Given the description of an element on the screen output the (x, y) to click on. 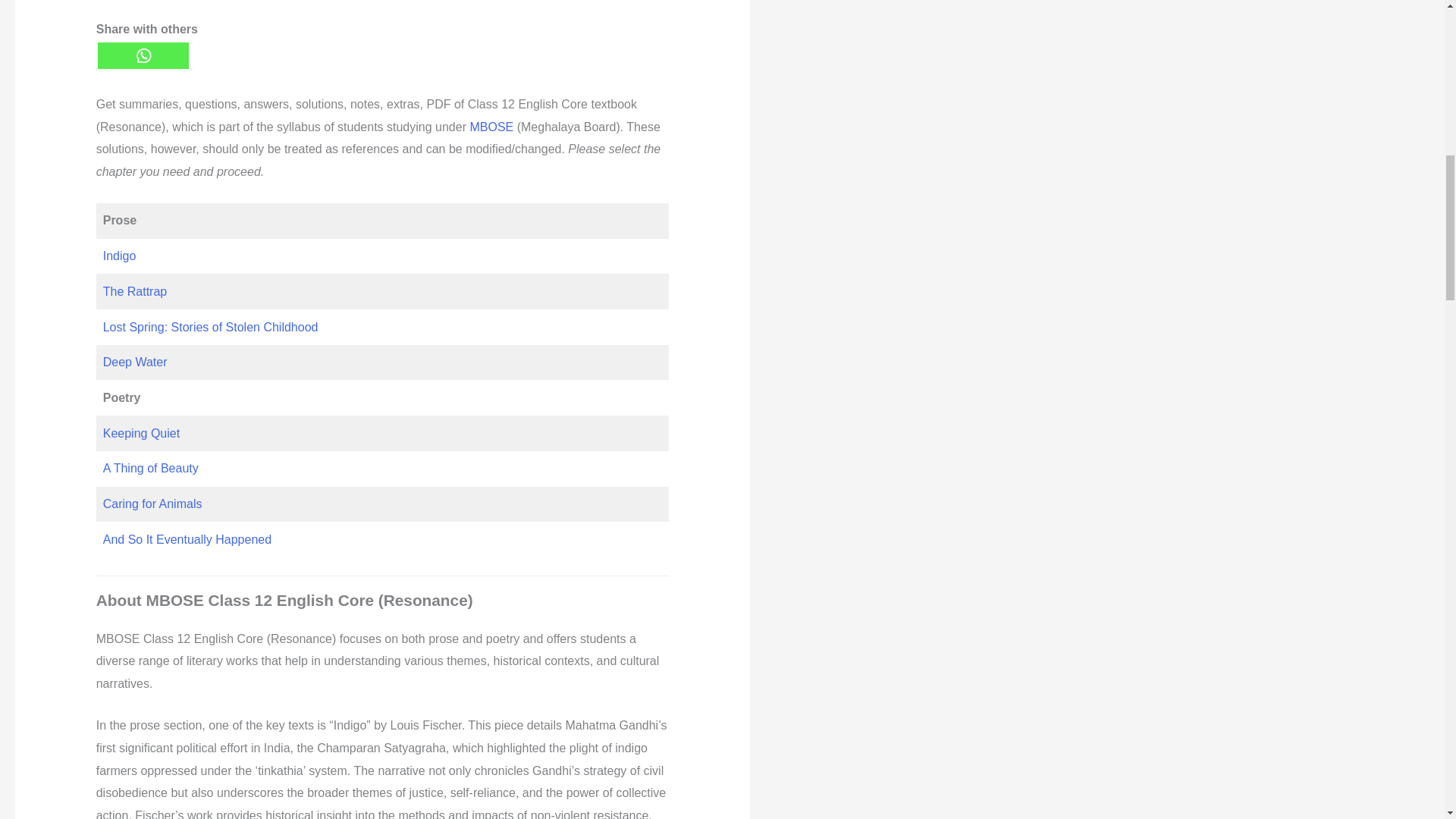
Advertisement (382, 6)
Whatsapp (143, 55)
